Given the description of an element on the screen output the (x, y) to click on. 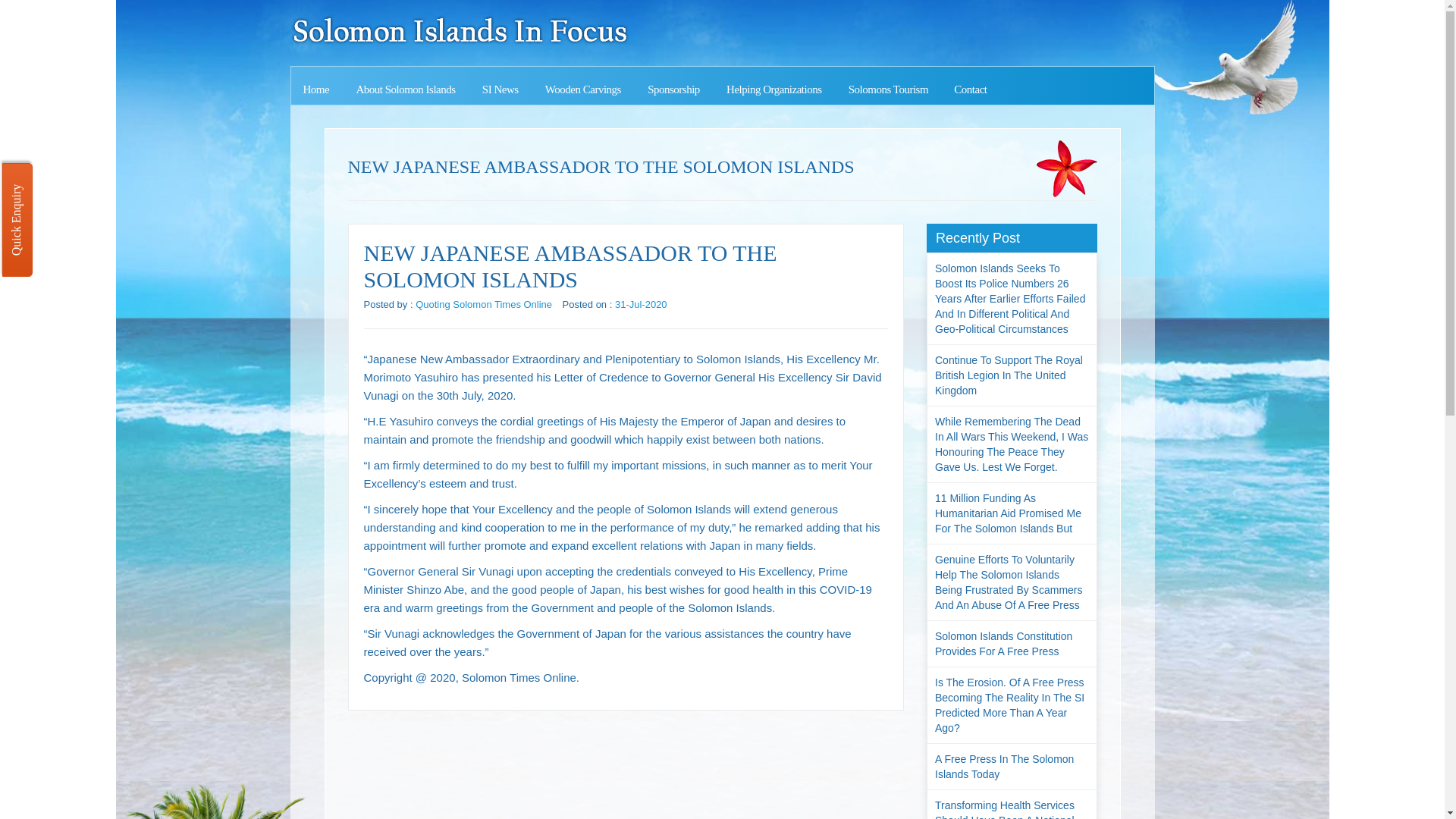
About Solomon Islands (405, 89)
Solomons Tourism (887, 89)
31-Jul-2020 (640, 304)
Home (316, 89)
